Given the description of an element on the screen output the (x, y) to click on. 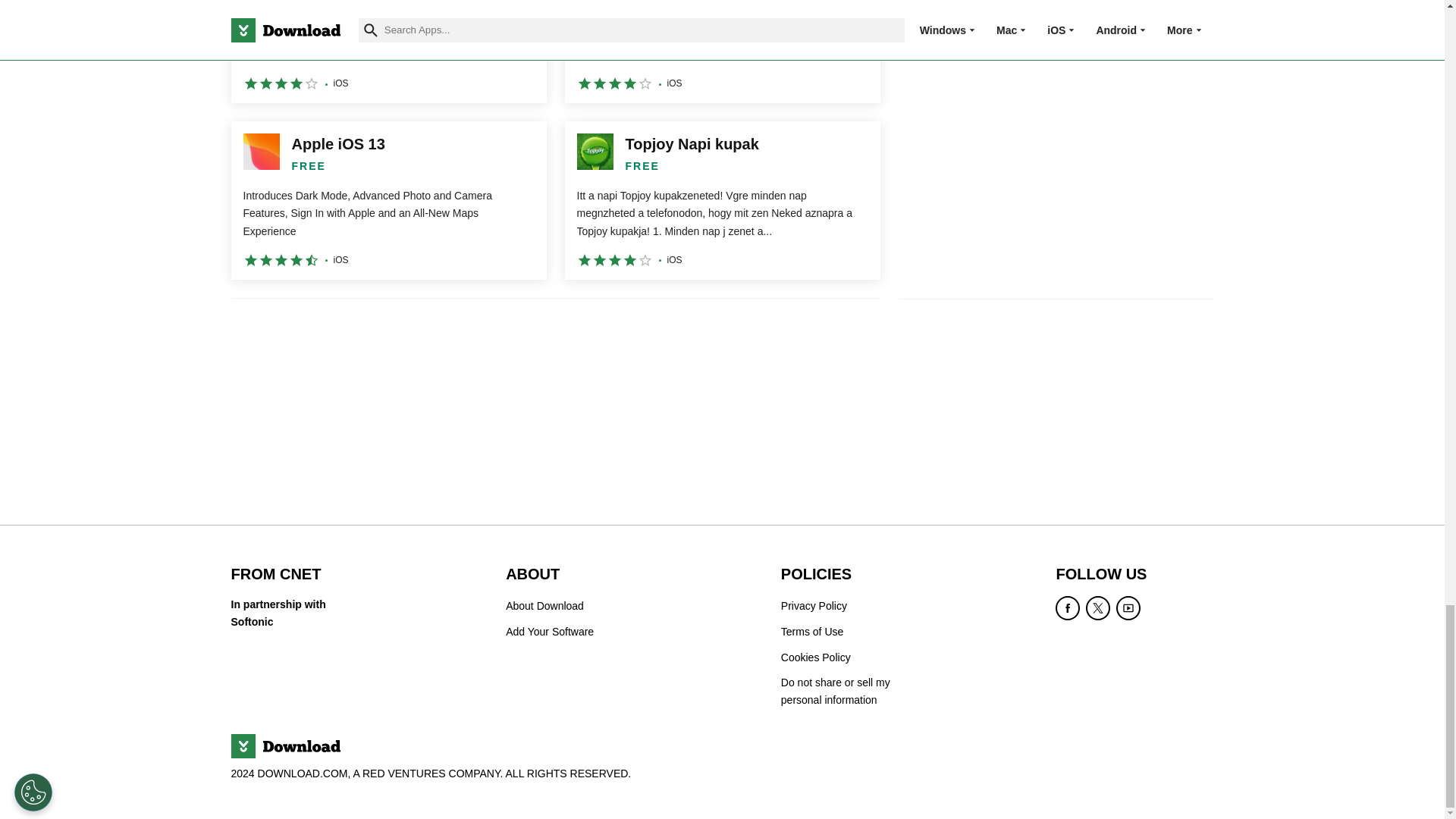
Download.com (284, 745)
Become a Facebook fan of Download.com (1067, 607)
Flash Track - Jinko Quality Tracking System (388, 51)
Apple iOS 13 (388, 200)
Topjoy Napi kupak (721, 200)
m365 downG (721, 51)
